Given the description of an element on the screen output the (x, y) to click on. 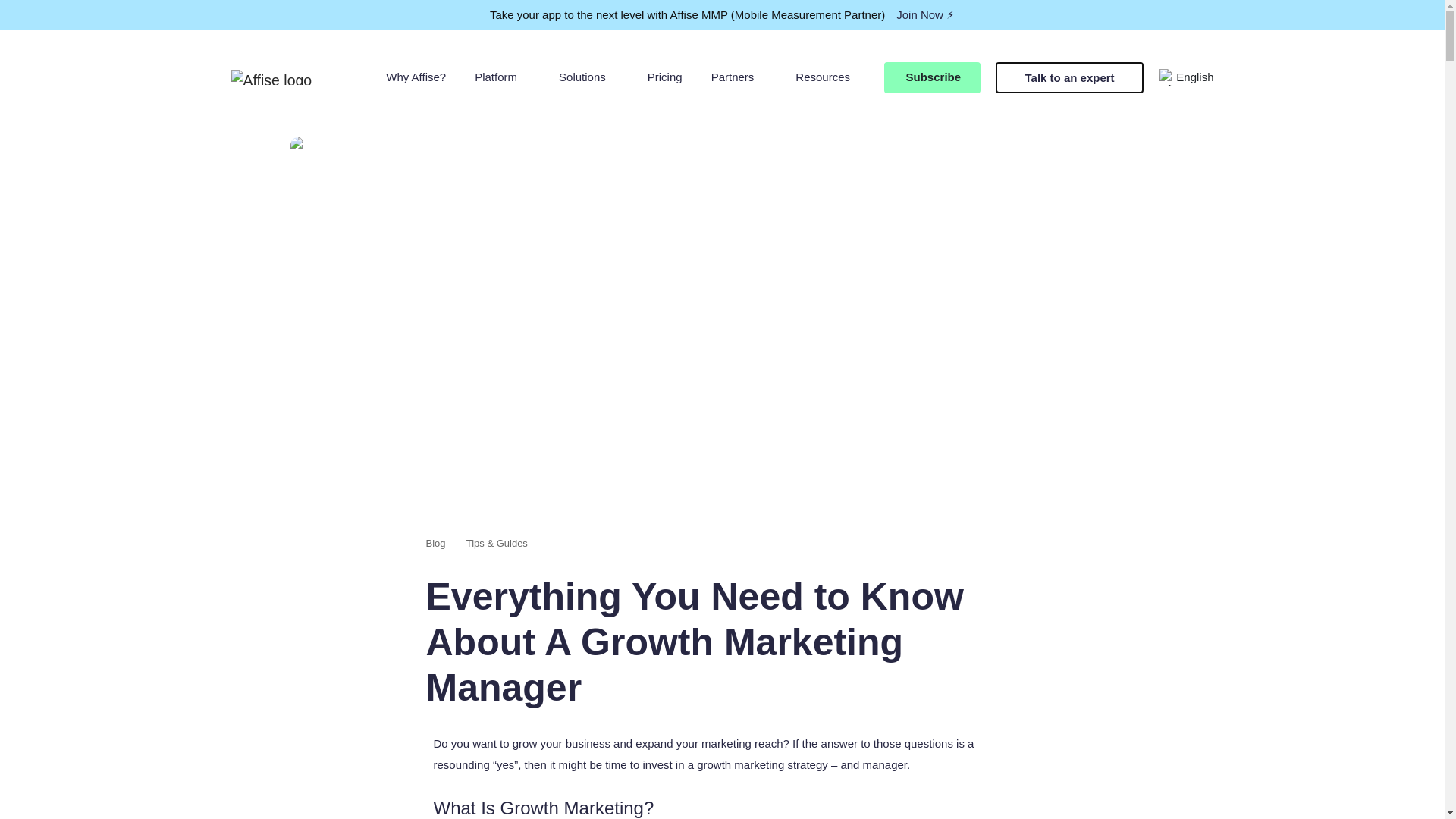
Go to Blog. (435, 542)
Why Affise? (415, 77)
Platform (502, 77)
Solutions (588, 77)
